Given the description of an element on the screen output the (x, y) to click on. 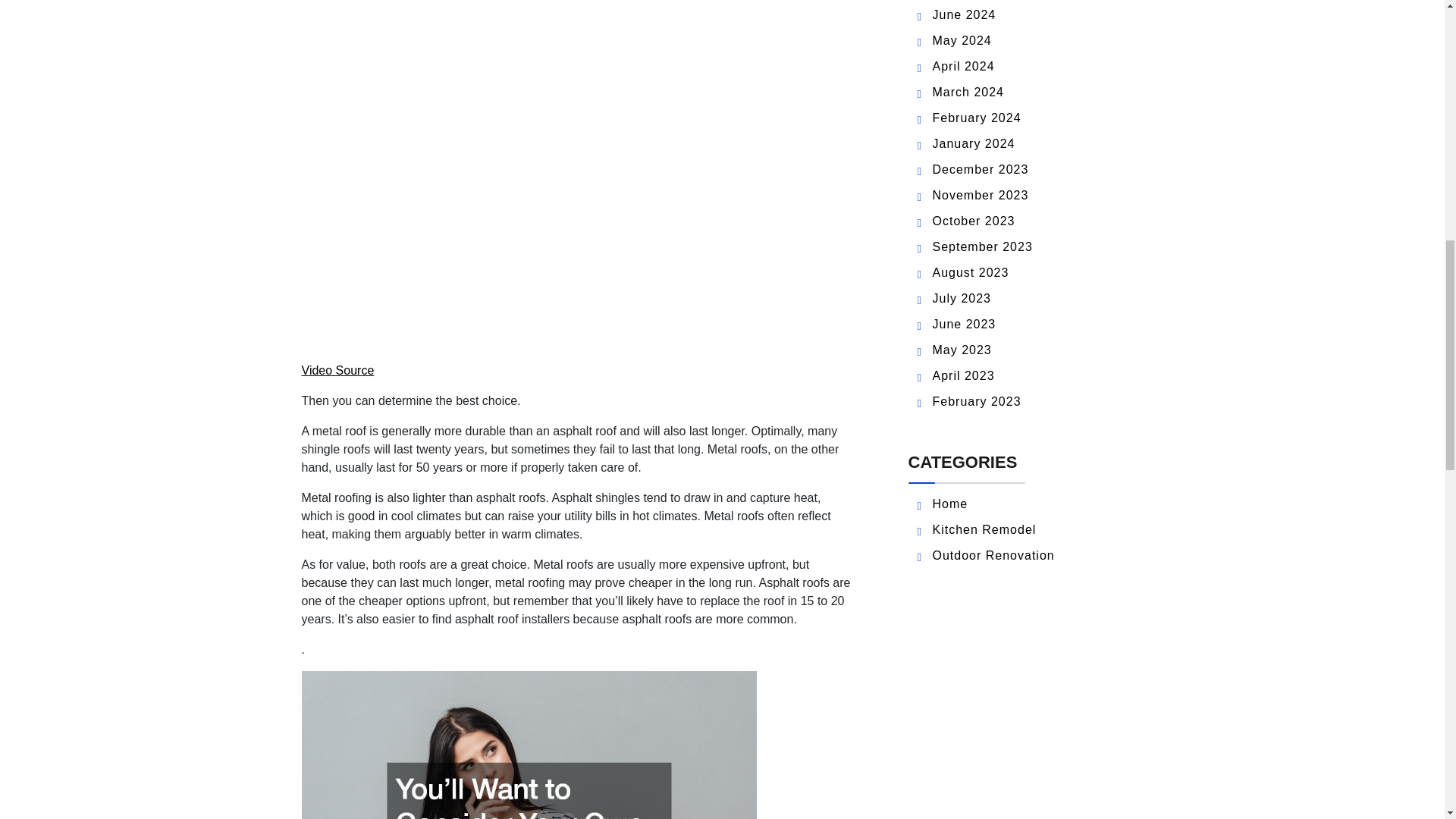
May 2024 (962, 40)
July 2023 (962, 297)
August 2023 (971, 272)
Video Source (337, 369)
April 2024 (963, 65)
November 2023 (981, 195)
September 2023 (982, 246)
December 2023 (981, 169)
January 2024 (973, 143)
June 2024 (964, 14)
